Given the description of an element on the screen output the (x, y) to click on. 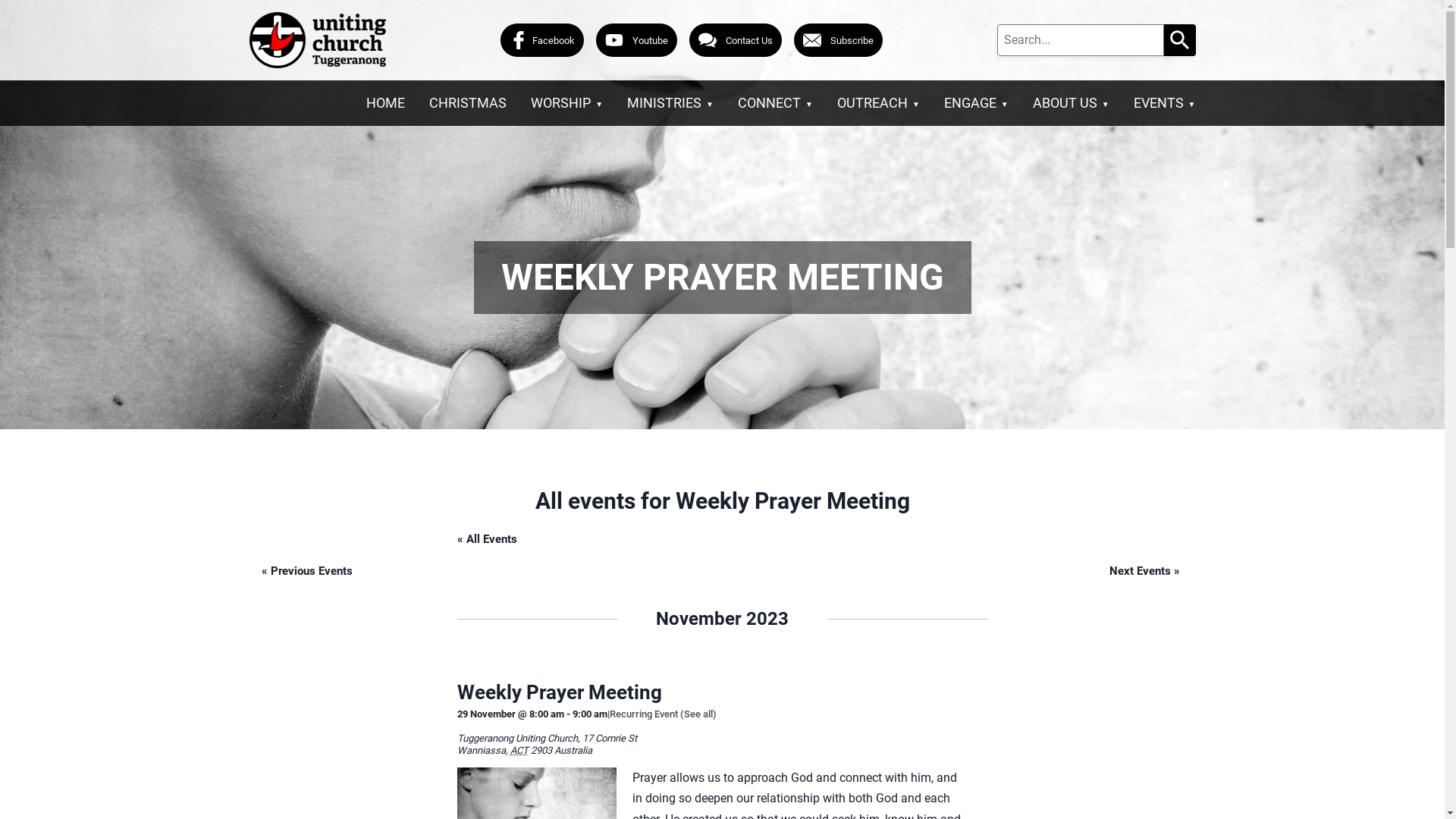
Youtube Element type: text (636, 40)
HOME Element type: text (385, 102)
Contact Us Element type: text (734, 40)
CHRISTMAS Element type: text (467, 102)
Facebook Element type: text (541, 40)
Weekly Prayer Meeting Element type: text (558, 691)
(See all) Element type: text (697, 713)
Subscribe Element type: text (837, 40)
Tuggeranong Uniting Church Element type: text (516, 737)
Home Element type: hover (316, 40)
